Given the description of an element on the screen output the (x, y) to click on. 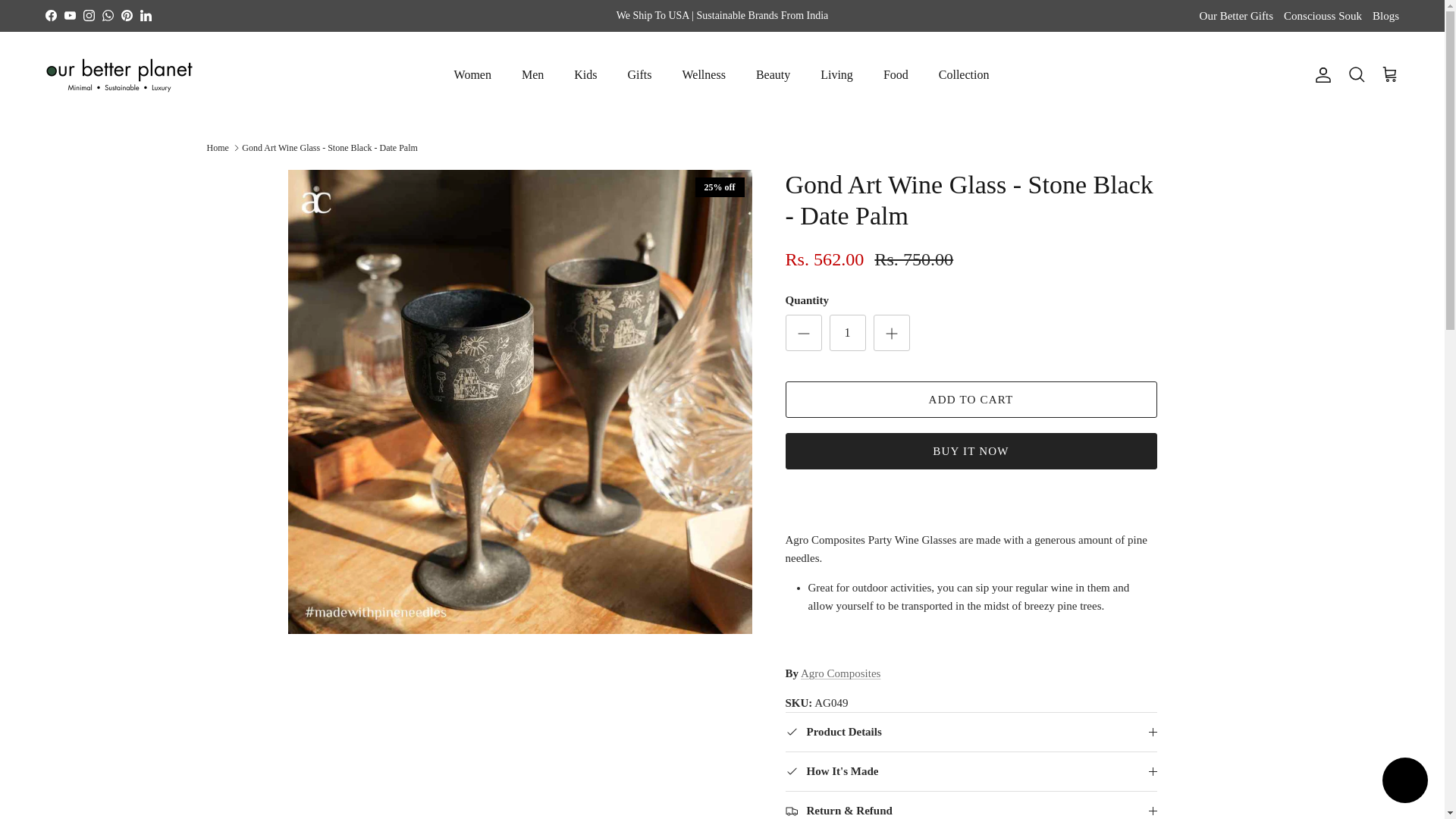
Search (1356, 75)
Our Better Planet on Pinterest (126, 15)
Living (836, 74)
YouTube (69, 15)
Collection (963, 74)
Our Better Planet (119, 75)
Kids (585, 74)
Our Better Gifts (1235, 15)
Shopify online store chat (1404, 781)
Our Better Planet on YouTube (69, 15)
